Given the description of an element on the screen output the (x, y) to click on. 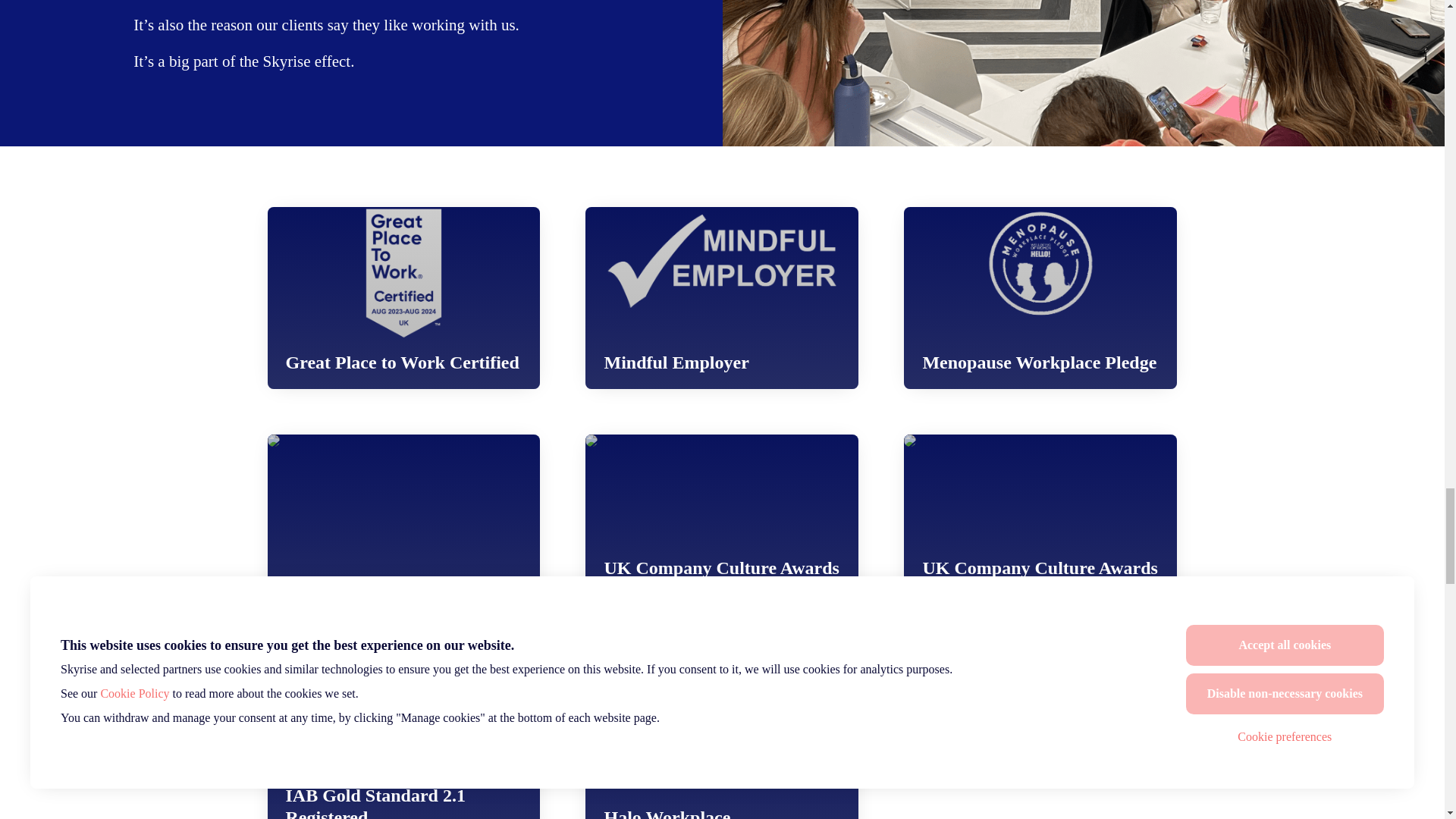
Great Place to Work Certified (403, 298)
Menopause Workplace Pledge (1040, 298)
Mindful Employer (722, 298)
IAB Gold Standard 2.1 Registered (403, 740)
Time to Test Supporter (403, 525)
UK Company Culture Awards 2022 (1040, 525)
UK Company Culture Awards 2023 (722, 525)
Halo Workplace (722, 740)
